Given the description of an element on the screen output the (x, y) to click on. 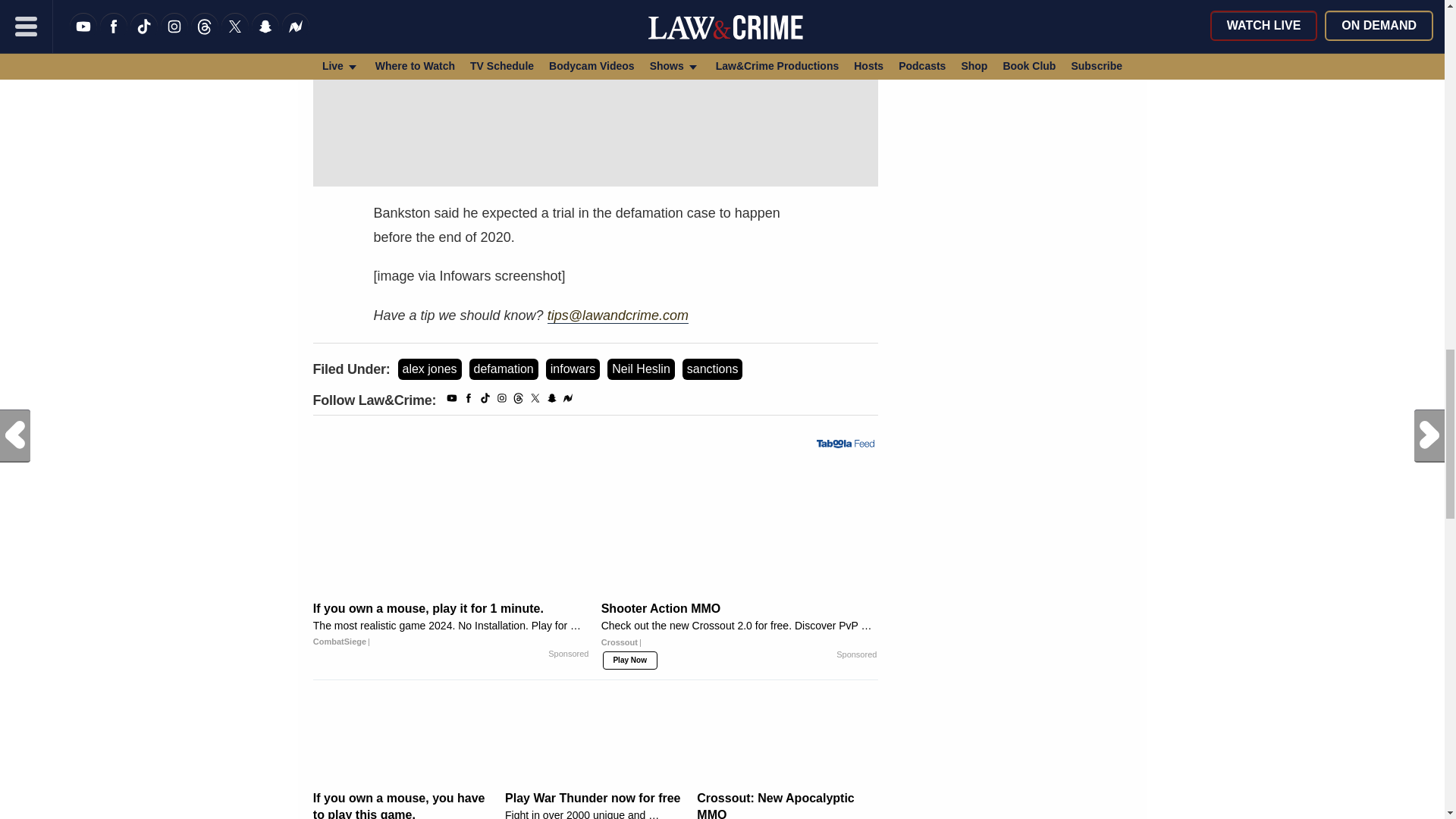
YouTube (451, 400)
